Given the description of an element on the screen output the (x, y) to click on. 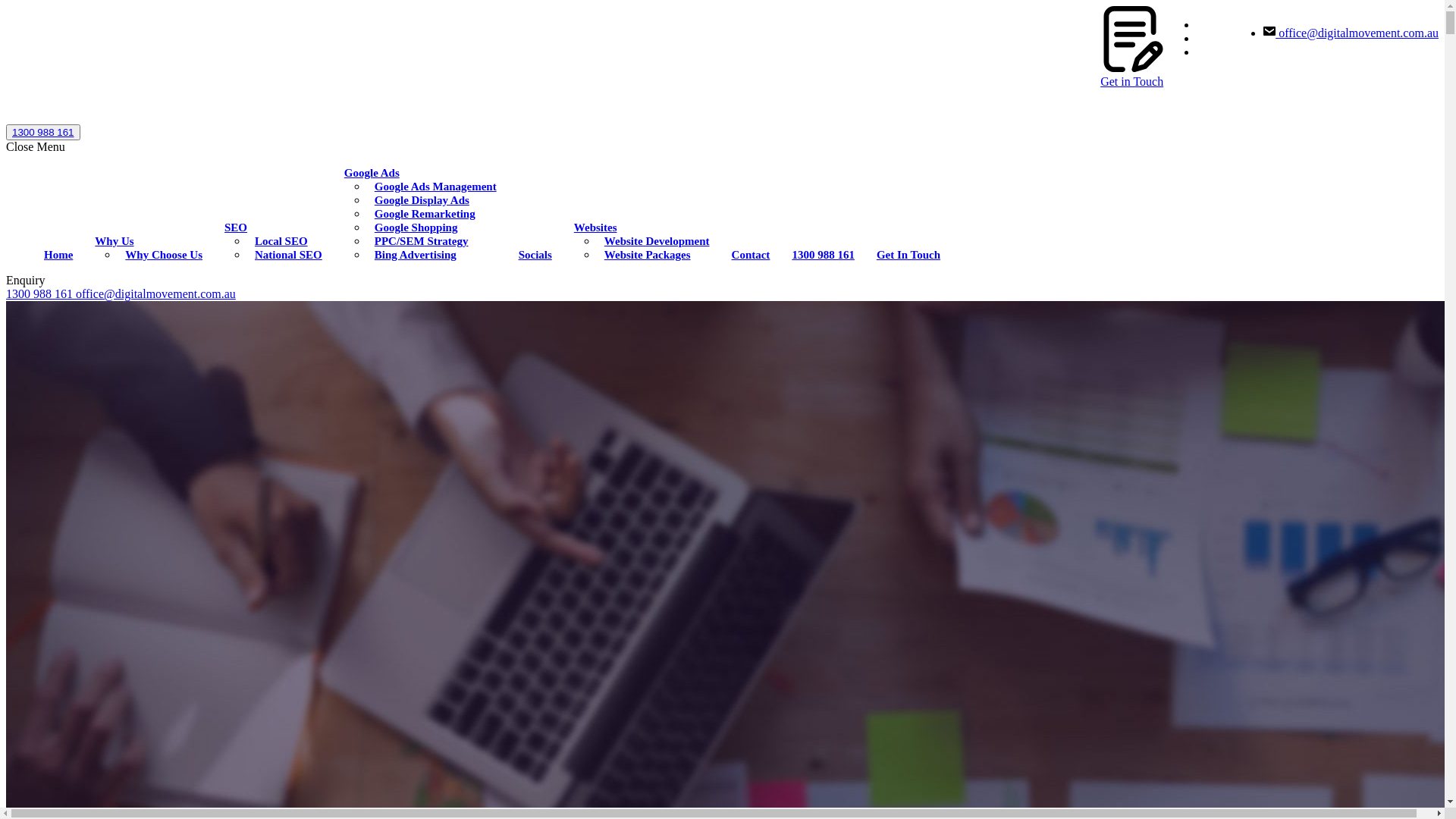
Bing Advertising Element type: text (411, 254)
Socials Element type: text (531, 254)
Google Display Ads Element type: text (418, 200)
Contact Element type: text (747, 254)
National SEO Element type: text (284, 254)
SEO Element type: text (231, 227)
Get in Touch Element type: text (1133, 74)
Why Us Element type: text (110, 241)
Websites Element type: text (591, 227)
Local SEO Element type: text (277, 241)
1300 988 161 Element type: text (819, 254)
Google Ads Management Element type: text (431, 186)
Get In Touch Element type: text (904, 254)
Google Shopping Element type: text (412, 227)
Website Packages Element type: text (643, 254)
1300 988 161 Element type: text (43, 132)
Home Element type: text (54, 254)
Website Development Element type: text (652, 241)
1300 988 161 Element type: text (40, 293)
PPC/SEM Strategy Element type: text (417, 241)
Google Ads Element type: text (367, 172)
Why Choose Us Element type: text (159, 254)
1300 988 161 Element type: text (43, 132)
office@digitalmovement.com.au Element type: text (1350, 32)
office@digitalmovement.com.au Element type: text (155, 293)
Digital Movement Element type: hover (155, 116)
Google Remarketing Element type: text (421, 213)
